Given the description of an element on the screen output the (x, y) to click on. 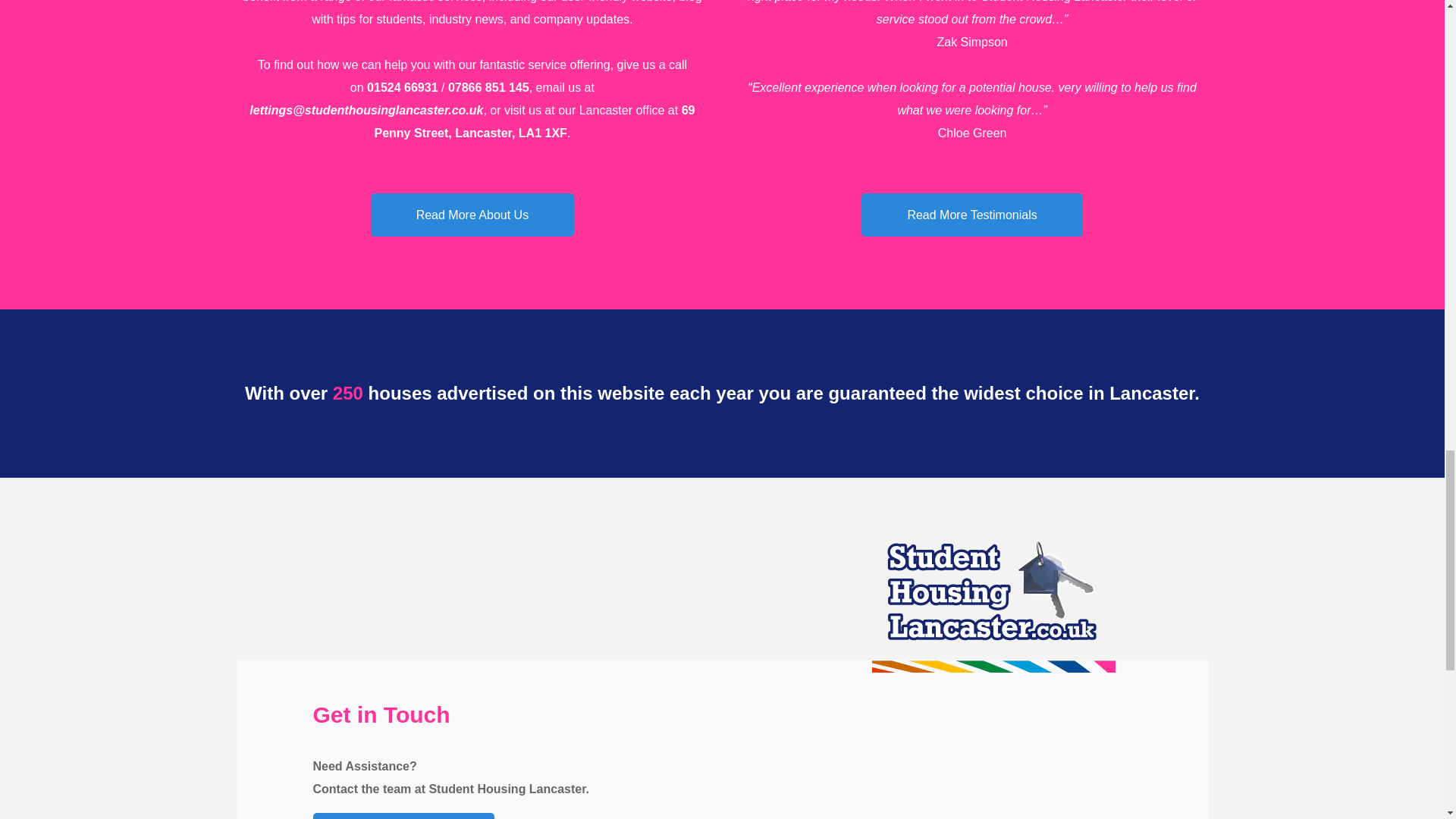
Contact Us (403, 816)
Read More About Us (473, 214)
Read More Testimonials (971, 214)
logo (993, 606)
